Given the description of an element on the screen output the (x, y) to click on. 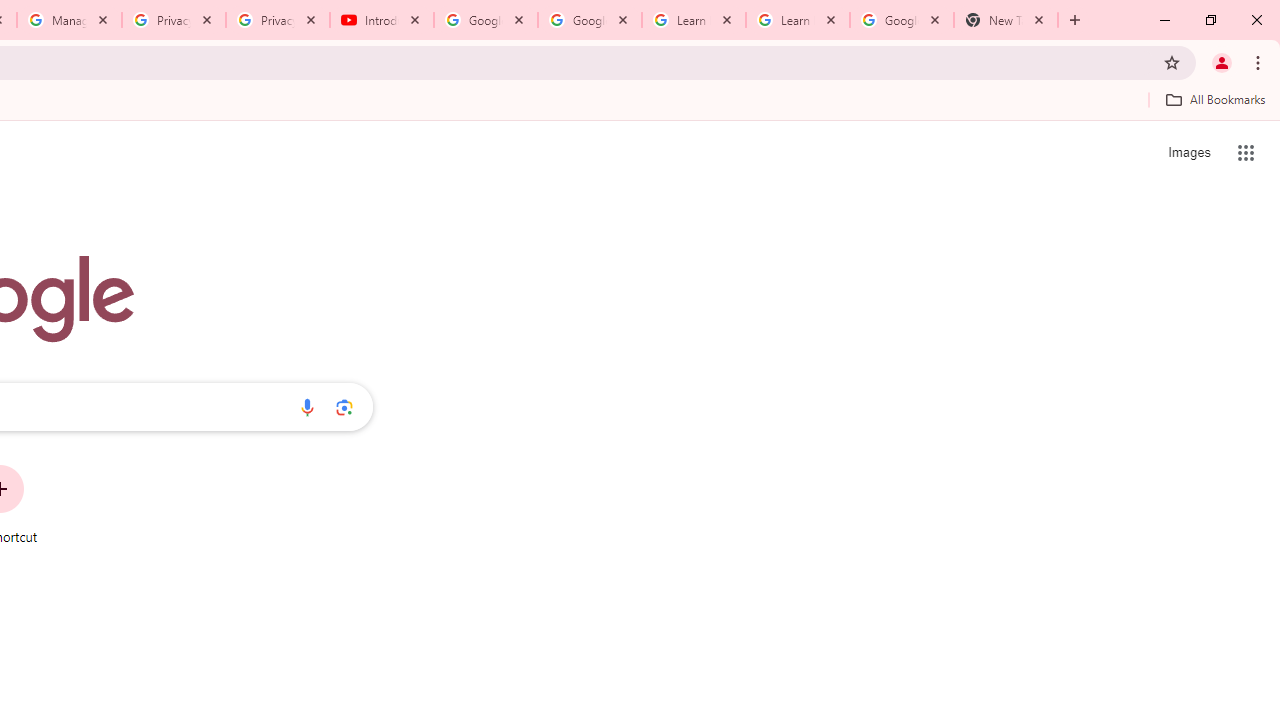
New Tab (1005, 20)
Google Account (901, 20)
Introduction | Google Privacy Policy - YouTube (381, 20)
